Given the description of an element on the screen output the (x, y) to click on. 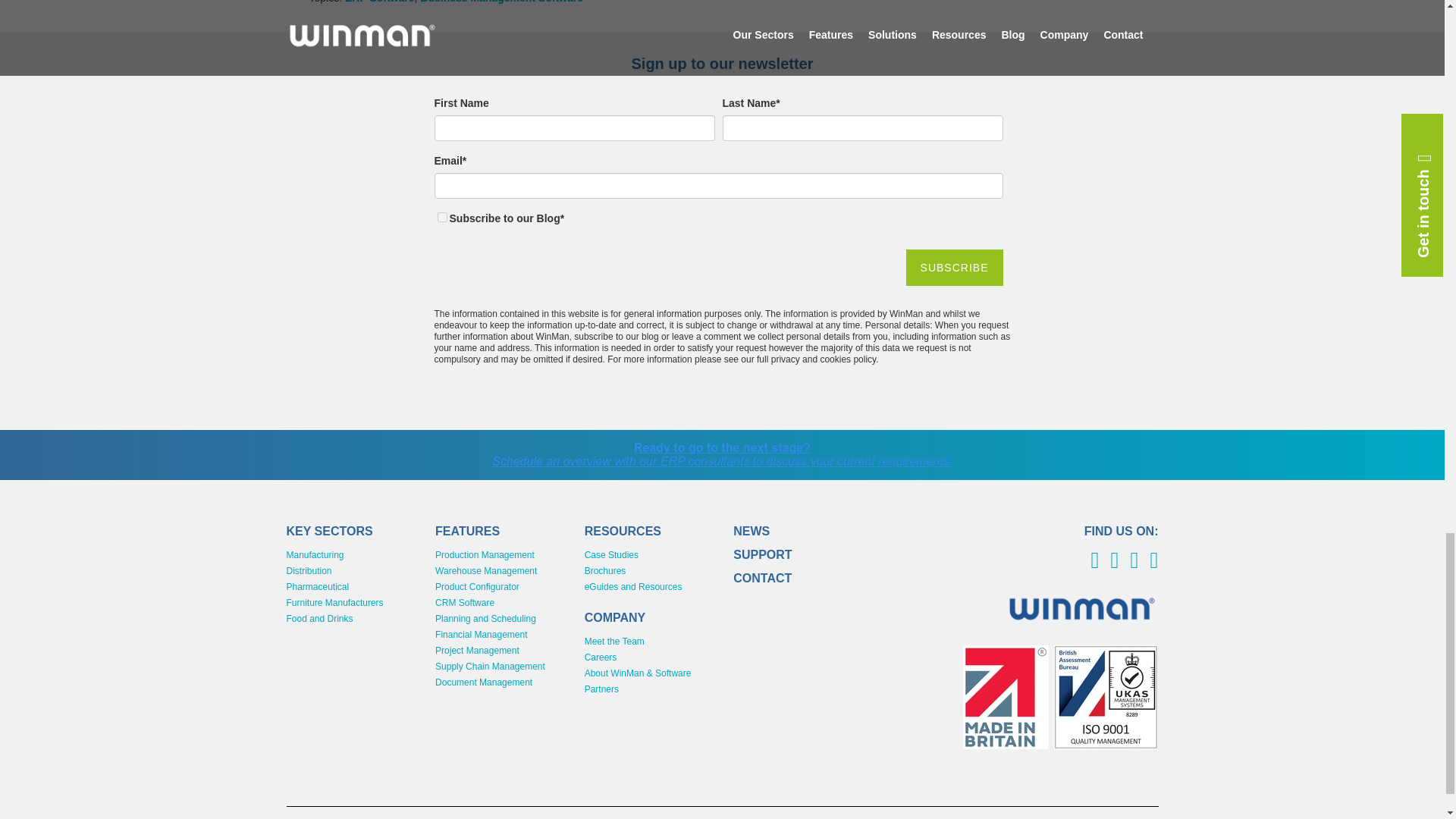
Subscribe (954, 267)
true (441, 216)
